Given the description of an element on the screen output the (x, y) to click on. 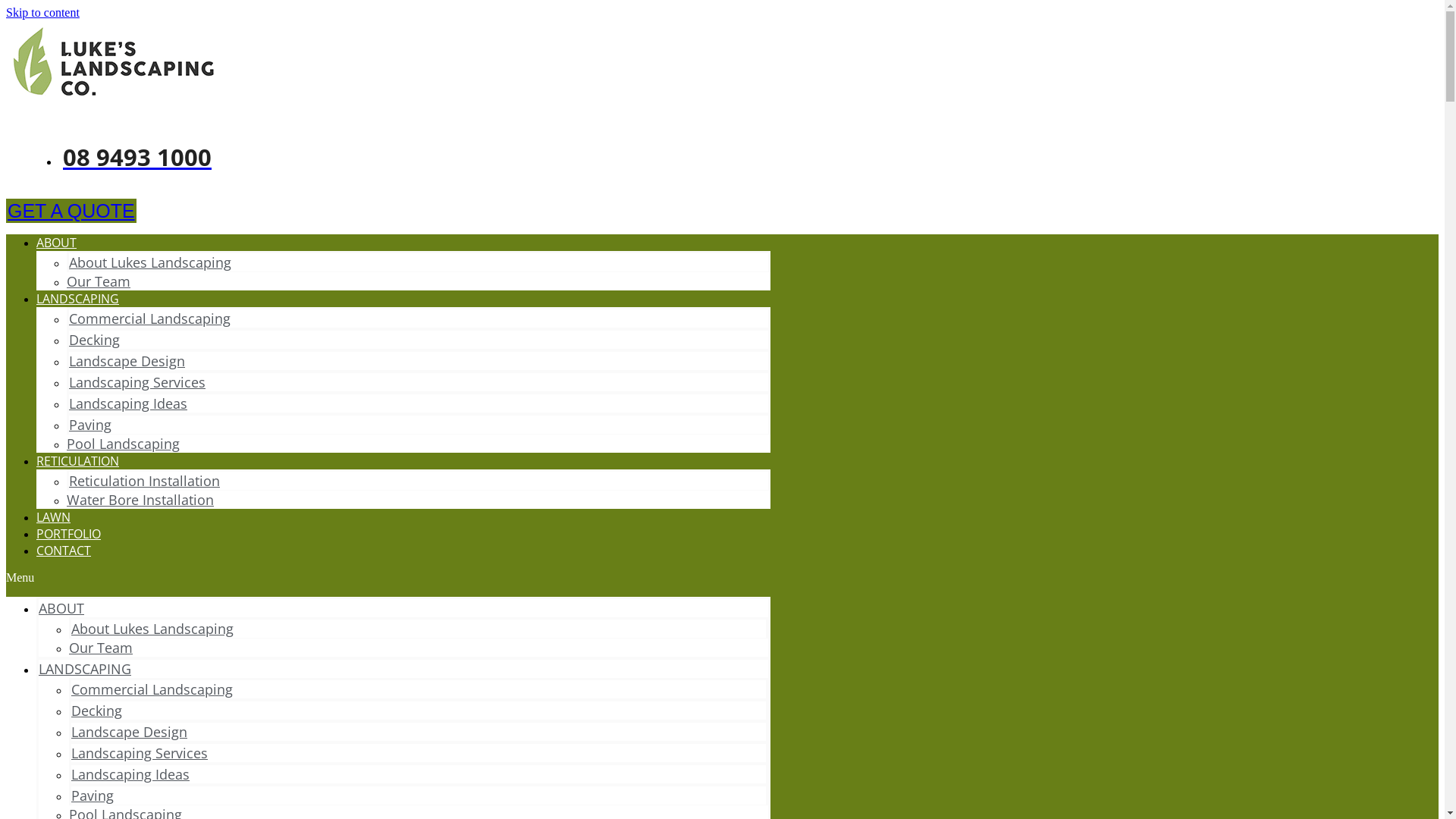
Landscaping Services Element type: text (137, 382)
PORTFOLIO Element type: text (68, 533)
CONTACT Element type: text (63, 550)
About Lukes Landscaping Element type: text (150, 262)
08 9493 1000 Element type: text (135, 156)
Commercial Landscaping Element type: text (151, 689)
Reticulation Installation Element type: text (144, 480)
About Lukes Landscaping Element type: text (152, 628)
Our Team Element type: text (100, 647)
Our Team Element type: text (98, 281)
ABOUT Element type: text (61, 608)
Paving Element type: text (92, 795)
Landscaping Ideas Element type: text (130, 774)
Paving Element type: text (90, 424)
Pool Landscaping Element type: text (122, 443)
RETICULATION Element type: text (77, 460)
LANDSCAPING Element type: text (84, 668)
Decking Element type: text (94, 339)
LANDSCAPING Element type: text (77, 298)
ABOUT Element type: text (56, 242)
Skip to content Element type: text (42, 12)
Landscape Design Element type: text (127, 360)
Landscaping Services Element type: text (139, 752)
Commercial Landscaping Element type: text (149, 318)
Landscaping Ideas Element type: text (128, 403)
Landscape Design Element type: text (129, 731)
Decking Element type: text (96, 710)
Water Bore Installation Element type: text (139, 499)
LAWN Element type: text (53, 516)
GET A QUOTE Element type: text (71, 210)
